Given the description of an element on the screen output the (x, y) to click on. 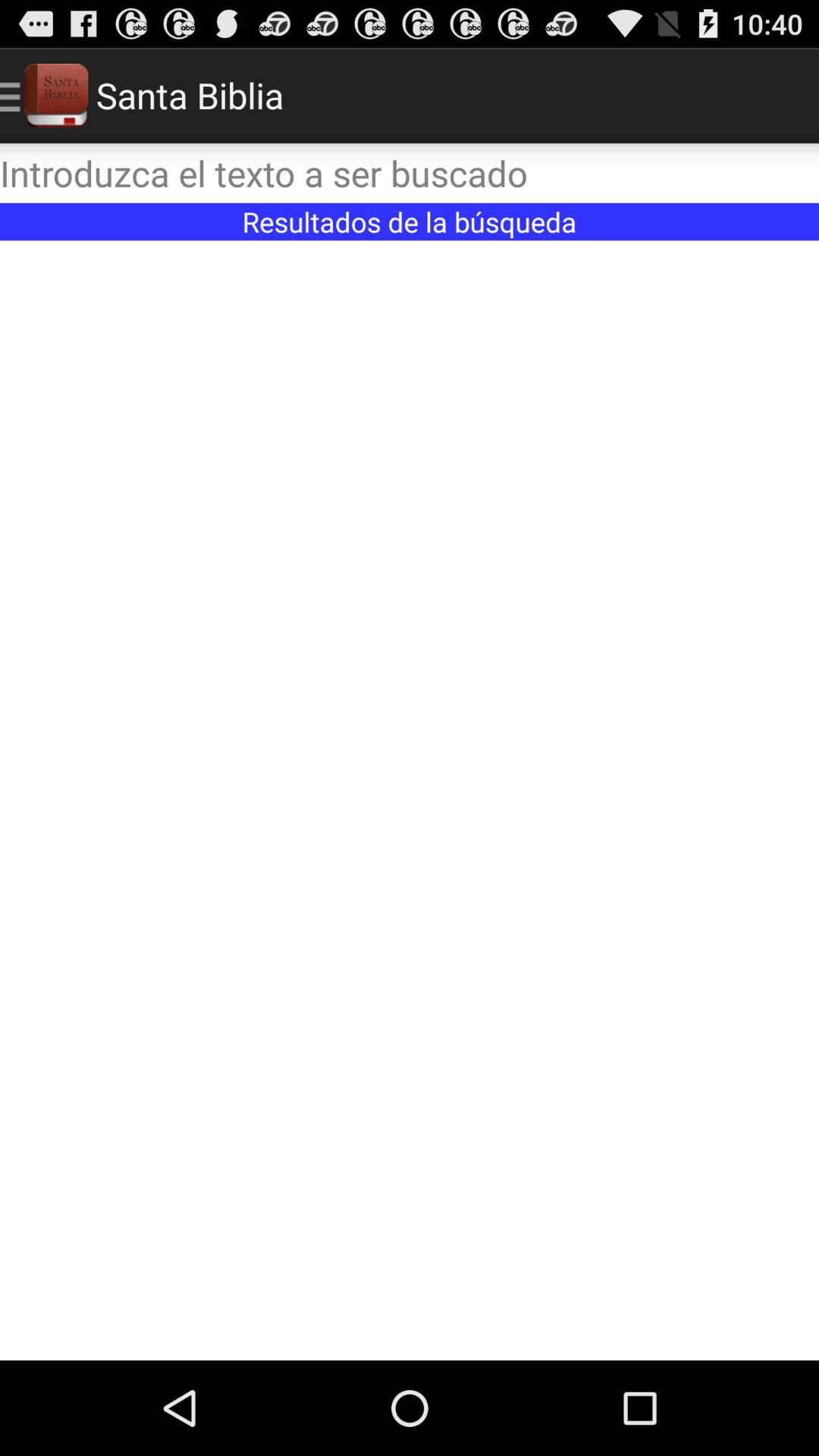
choose the icon at the center (409, 800)
